Given the description of an element on the screen output the (x, y) to click on. 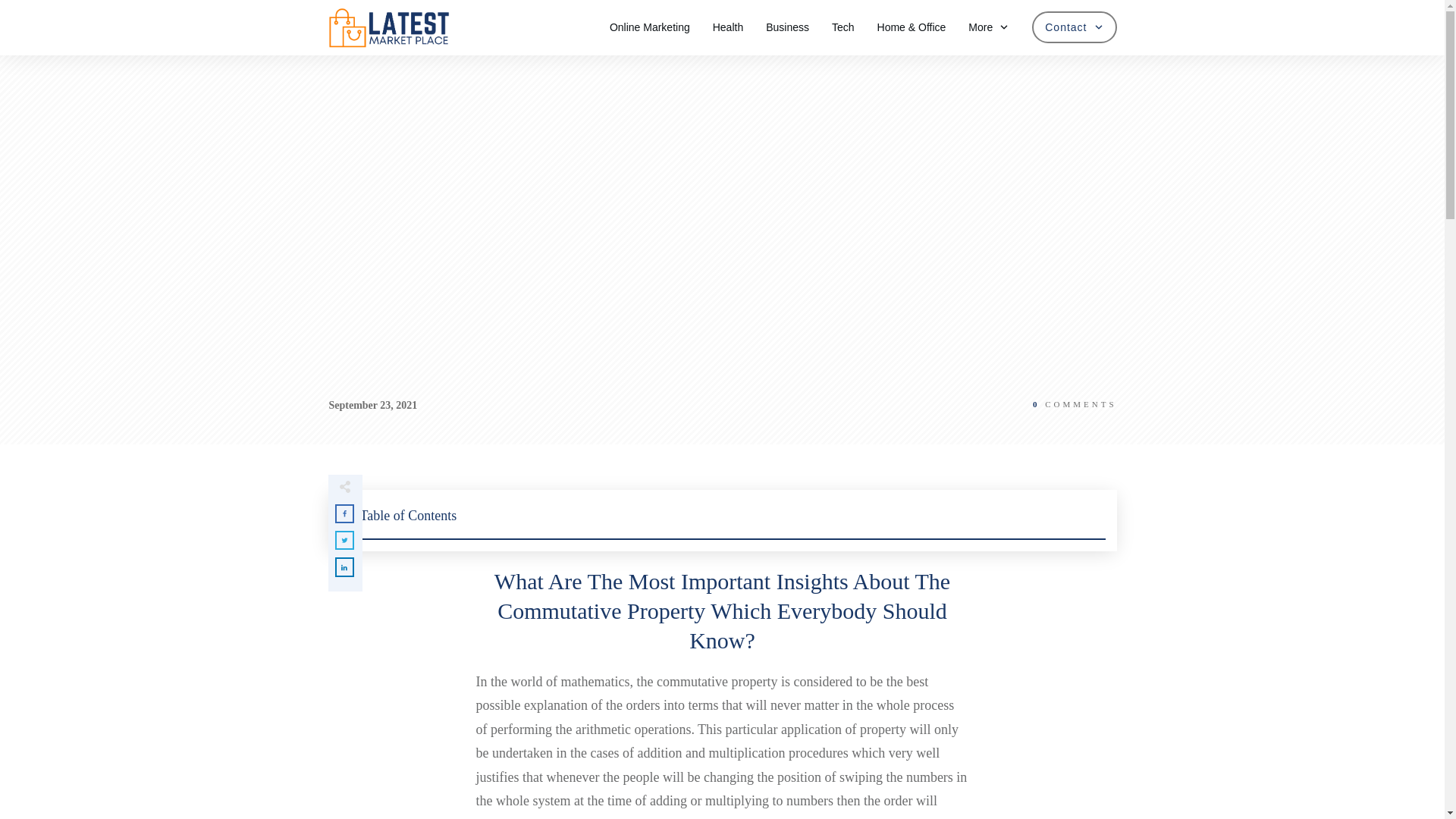
Online Marketing (650, 26)
Tech (842, 26)
More (988, 26)
Contact (1074, 26)
Business (787, 26)
Health (727, 26)
Table of Contents (721, 520)
